Given the description of an element on the screen output the (x, y) to click on. 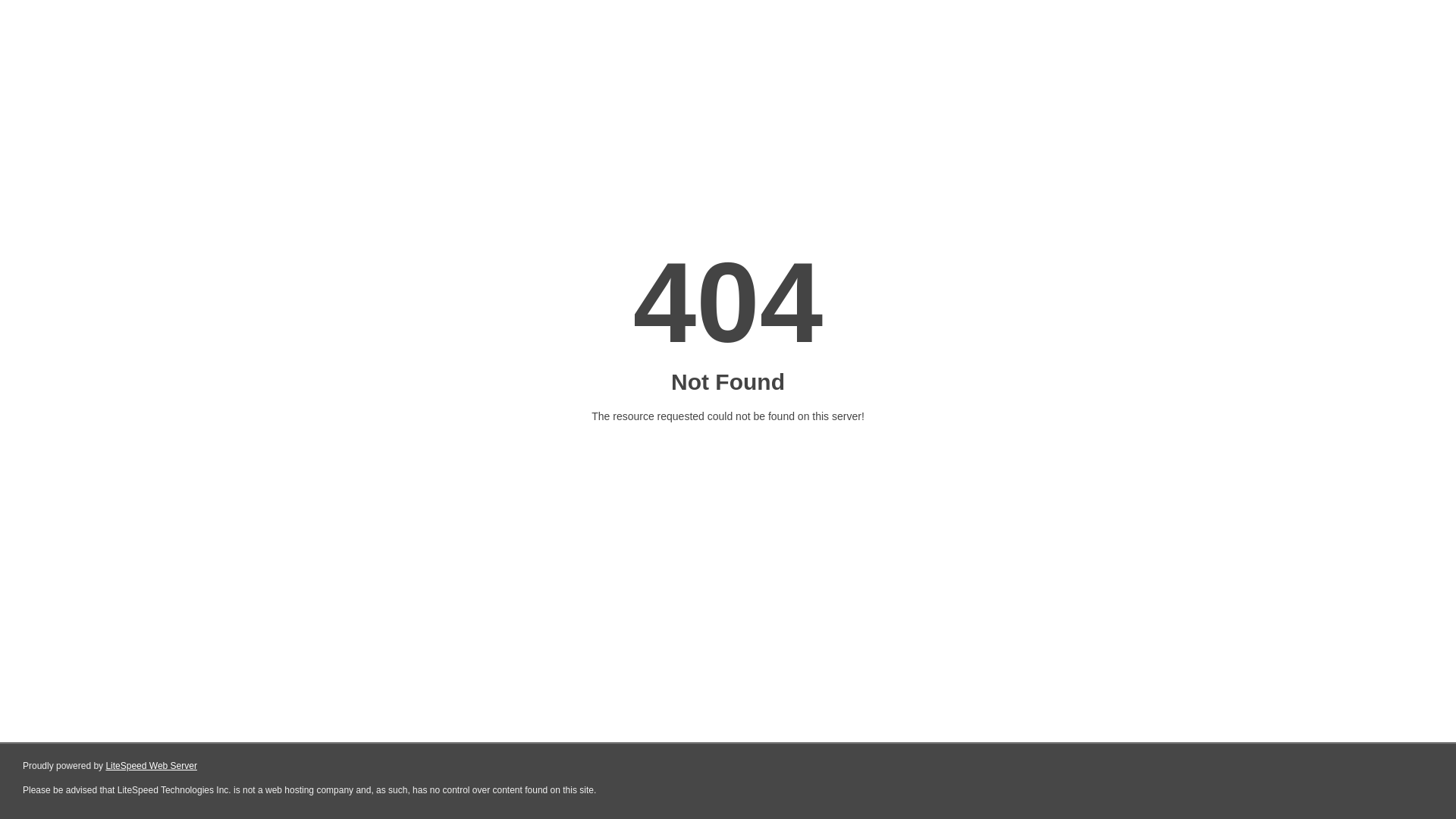
LiteSpeed Web Server Element type: text (151, 765)
